Given the description of an element on the screen output the (x, y) to click on. 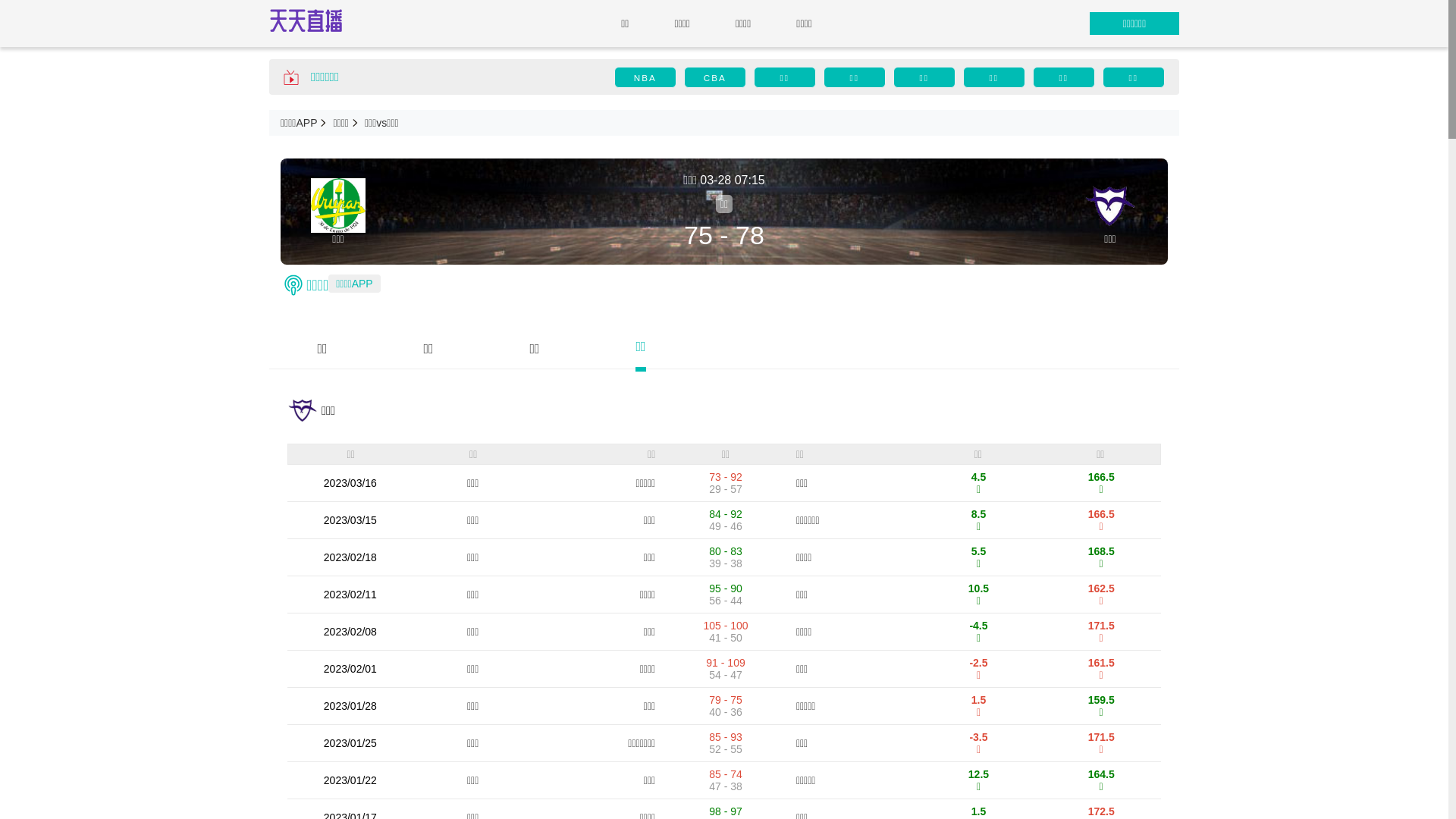
CBA Element type: text (714, 77)
NBA Element type: text (644, 77)
